Given the description of an element on the screen output the (x, y) to click on. 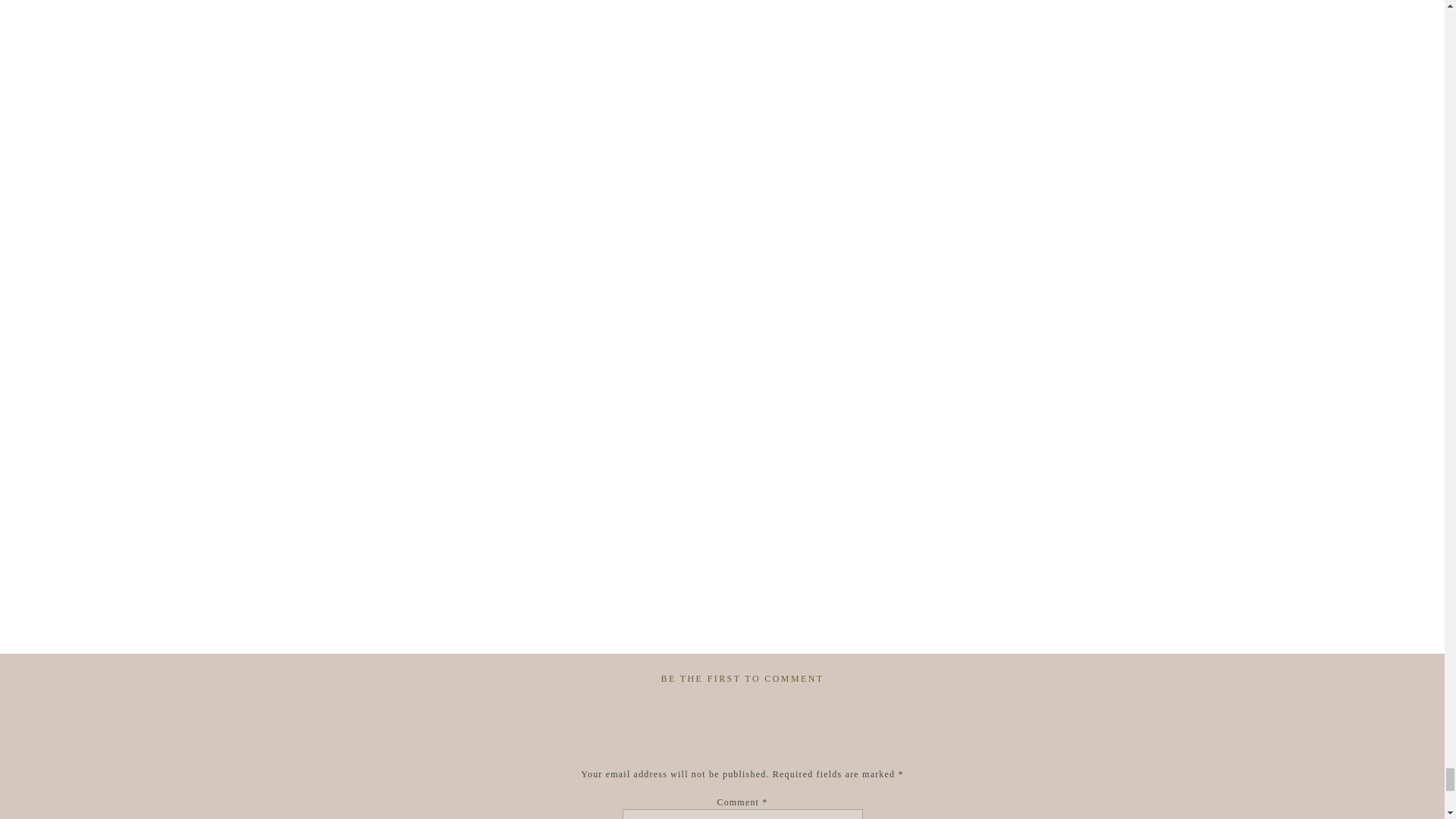
BE THE FIRST TO COMMENT (742, 678)
